Given the description of an element on the screen output the (x, y) to click on. 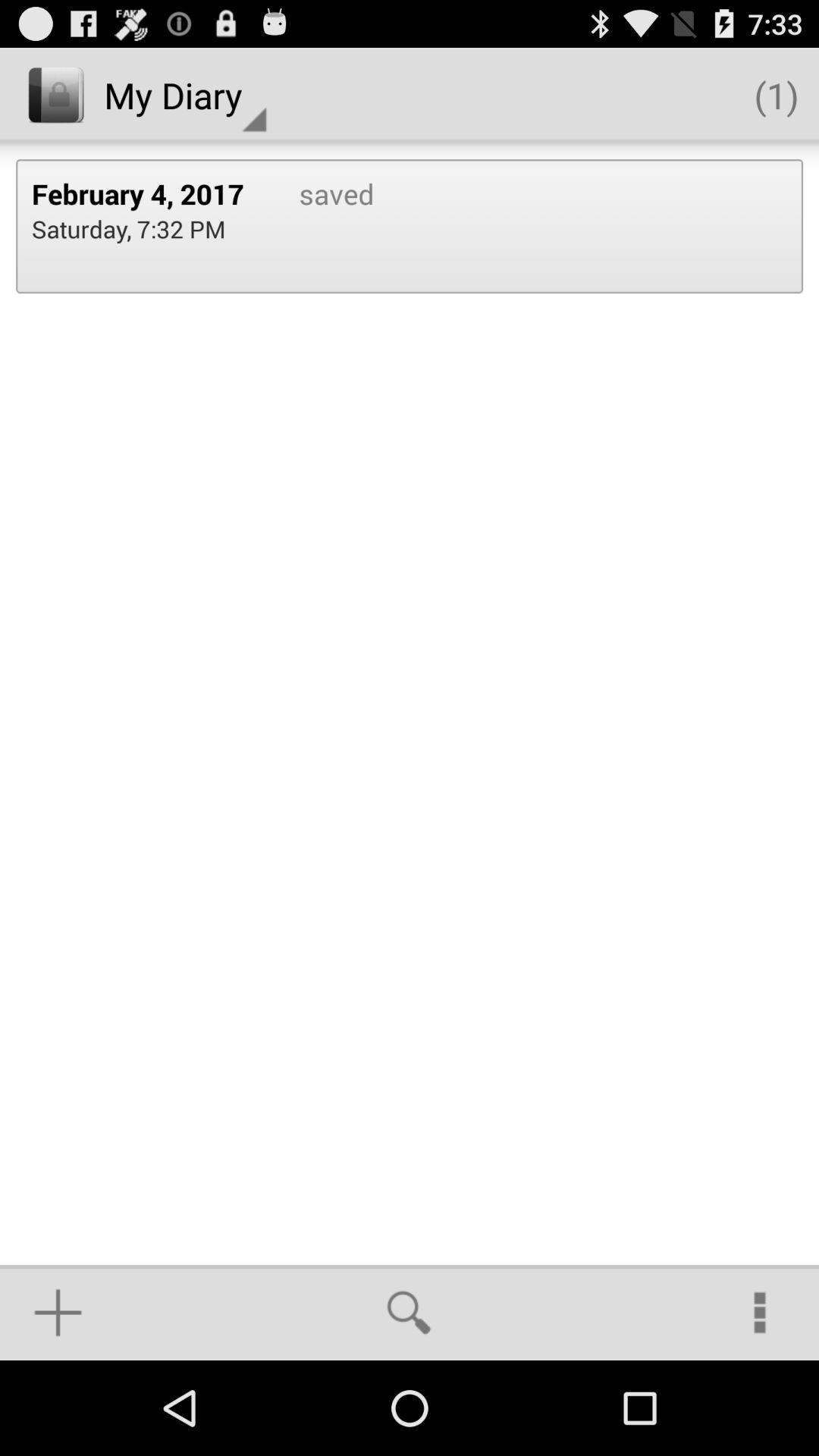
tap the icon next to the saved item (149, 193)
